Given the description of an element on the screen output the (x, y) to click on. 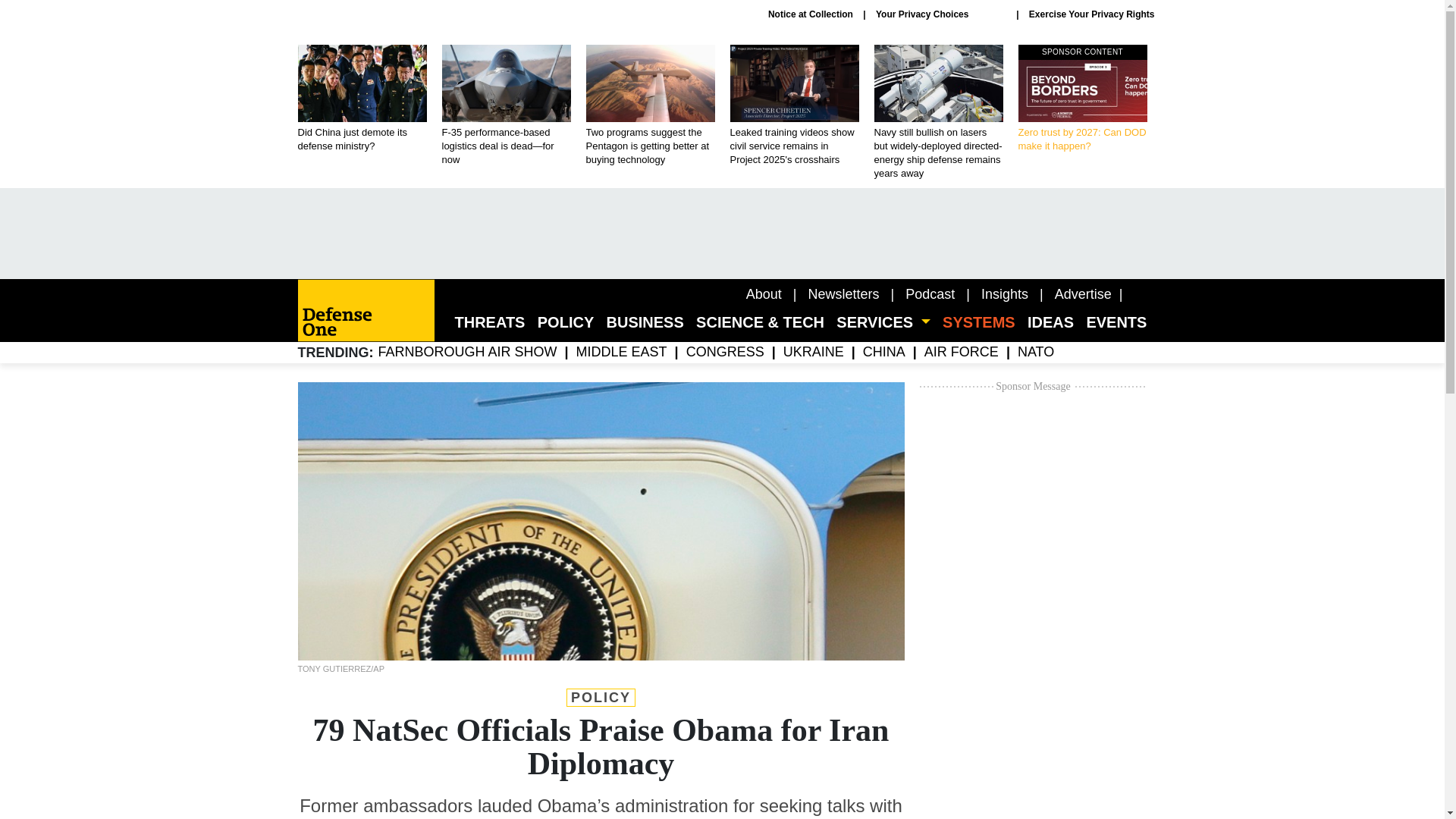
About (763, 294)
Newsletters (1082, 99)
Advertise (843, 294)
Insights (1083, 294)
Podcast (1004, 294)
Notice at Collection (930, 294)
3rd party ad content (810, 14)
